Given the description of an element on the screen output the (x, y) to click on. 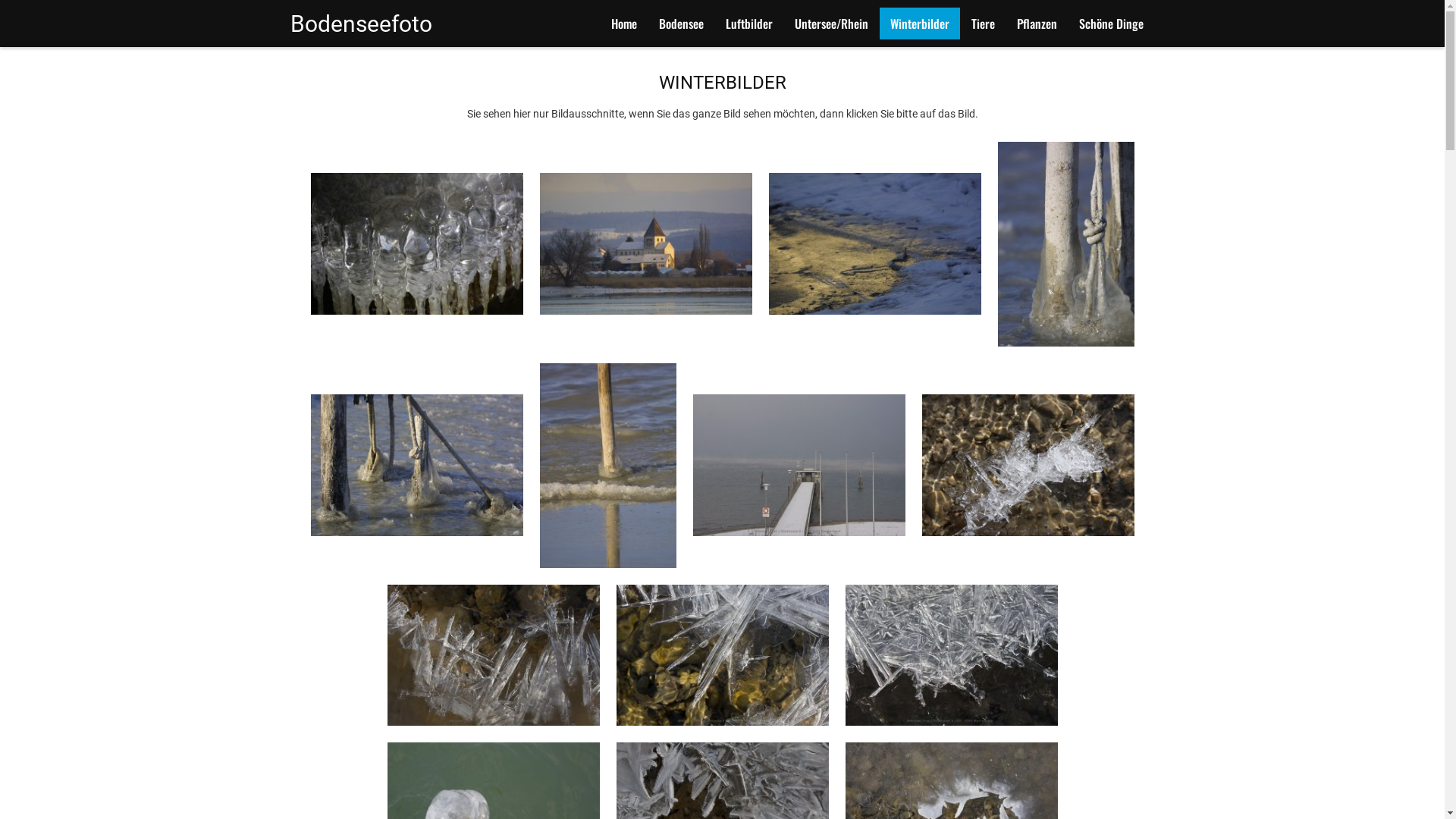
 (4/82) Element type: hover (1066, 244)
Untersee/Rhein Element type: text (831, 23)
 (7/82) Element type: hover (799, 464)
 (2/82) Element type: hover (645, 243)
 (11/82) Element type: hover (950, 655)
 (9/82) Element type: hover (492, 655)
 (8/82) Element type: hover (1028, 464)
Luftbilder Element type: text (748, 23)
Home Element type: text (623, 23)
Tiere Element type: text (982, 23)
 (3/82) Element type: hover (874, 243)
 (10/82) Element type: hover (721, 655)
 (5/82) Element type: hover (416, 464)
 (1/82) Element type: hover (416, 243)
Bodensee Element type: text (680, 23)
Pflanzen Element type: text (1035, 23)
Bodenseefoto Element type: text (389, 23)
Winterbilder Element type: text (919, 23)
 (6/82) Element type: hover (608, 465)
